Given the description of an element on the screen output the (x, y) to click on. 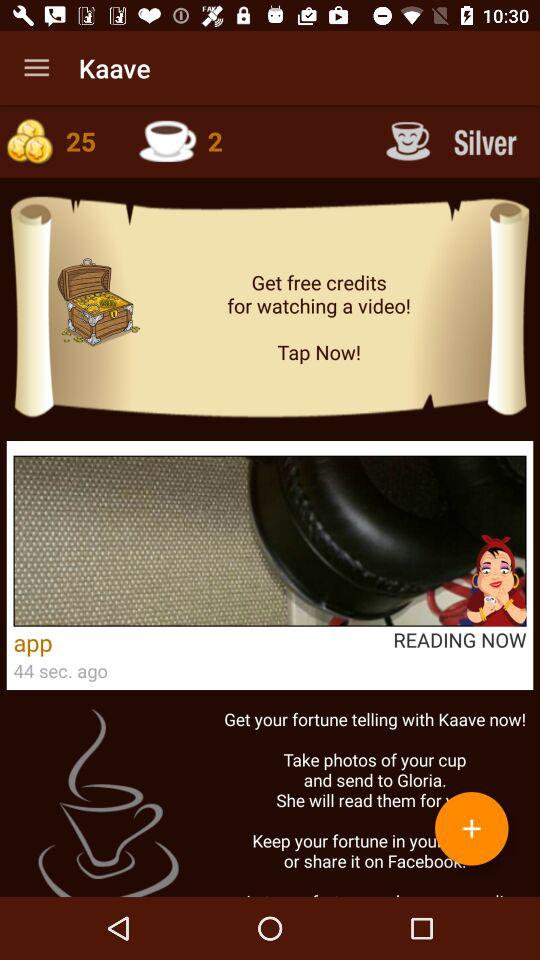
launch the item to the left of the kaave icon (36, 68)
